Given the description of an element on the screen output the (x, y) to click on. 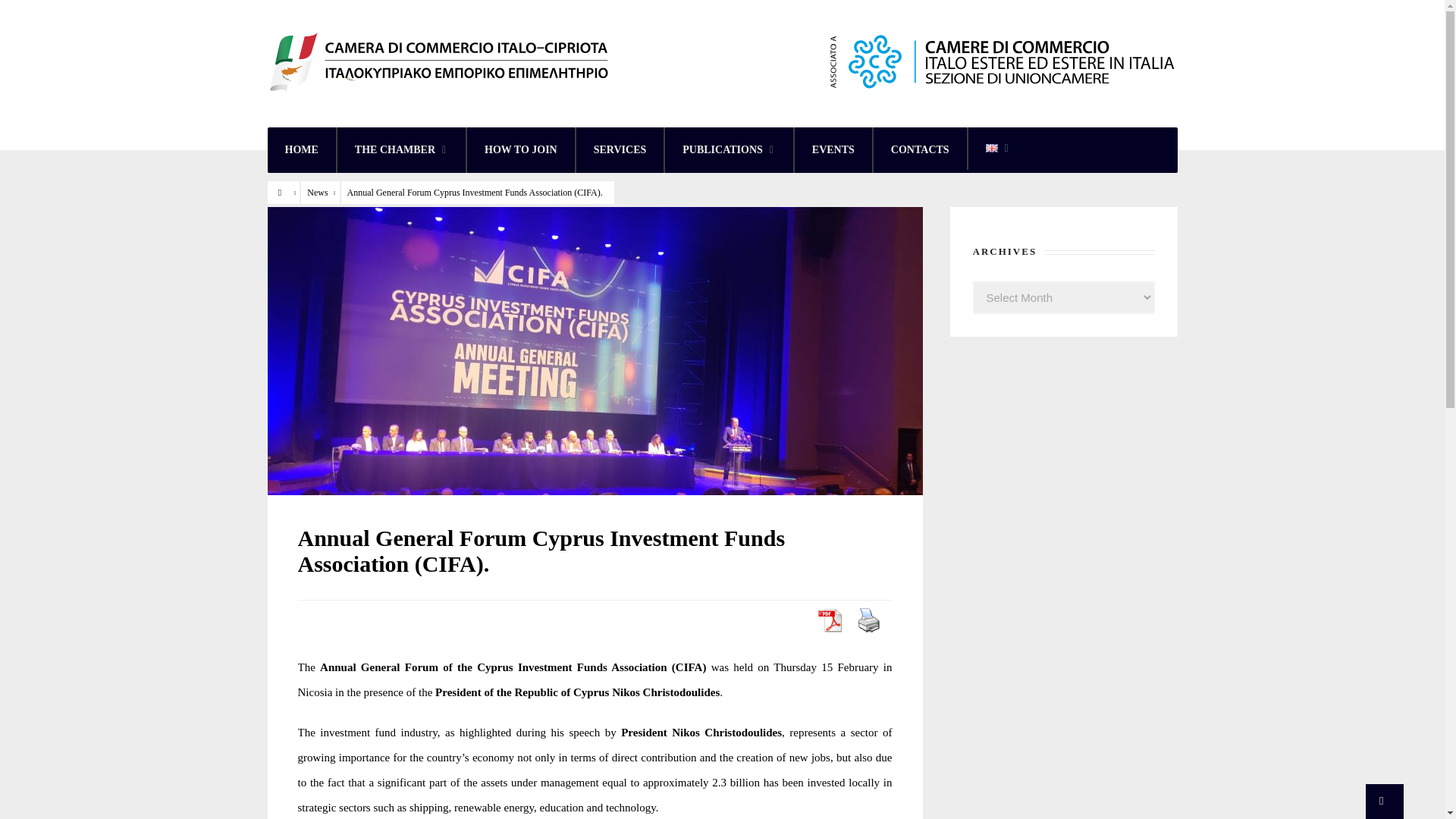
News (317, 192)
HOW TO JOIN (520, 149)
CONTACTS (920, 149)
Print Content (867, 620)
SERVICES (620, 149)
EVENTS (833, 149)
THE CHAMBER (401, 149)
PUBLICATIONS (729, 149)
Download PDF (828, 620)
